Given the description of an element on the screen output the (x, y) to click on. 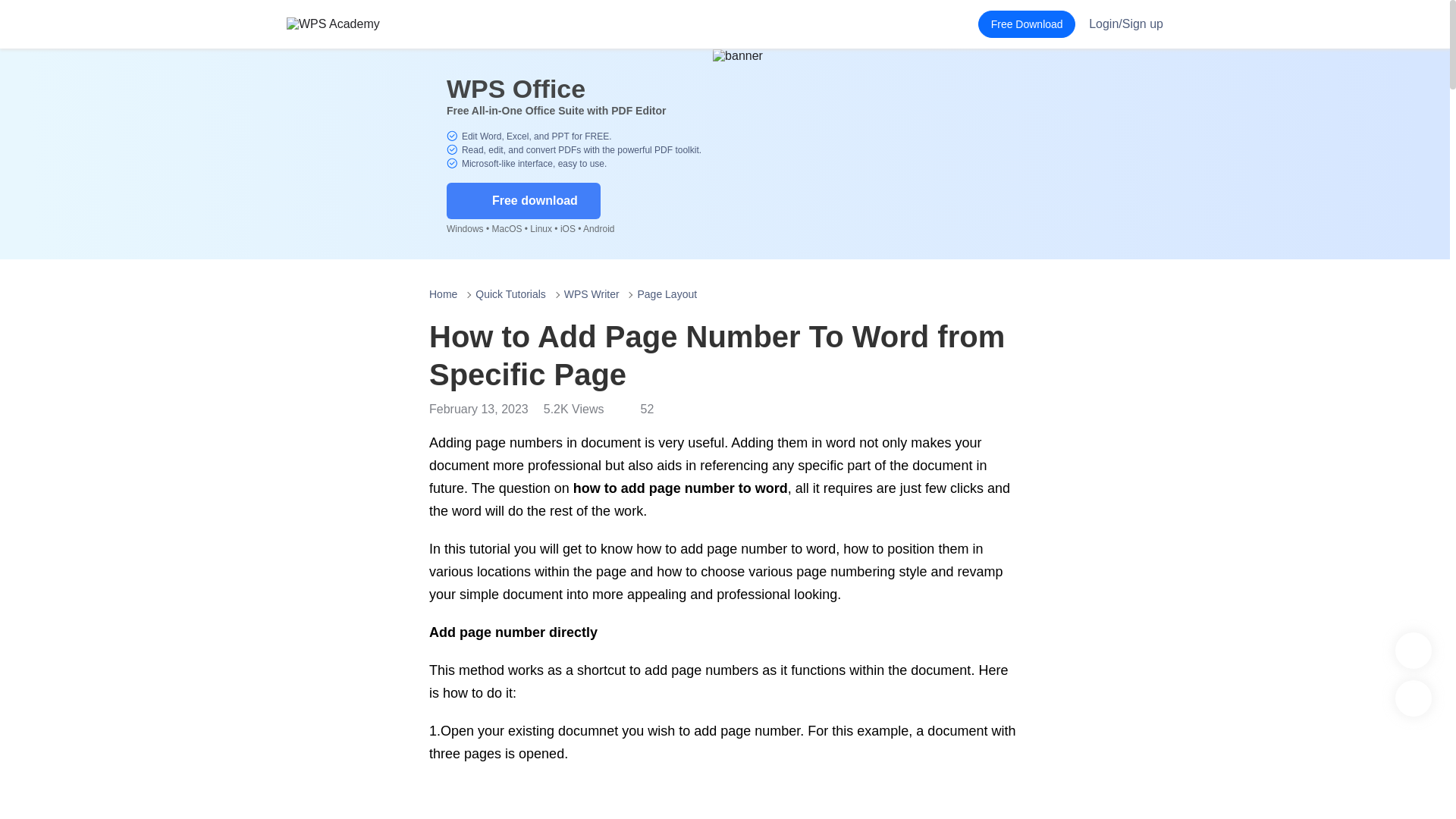
Home (443, 294)
WPS Writer (592, 294)
Quick Tutorials (511, 294)
Page Layout (667, 294)
